Given the description of an element on the screen output the (x, y) to click on. 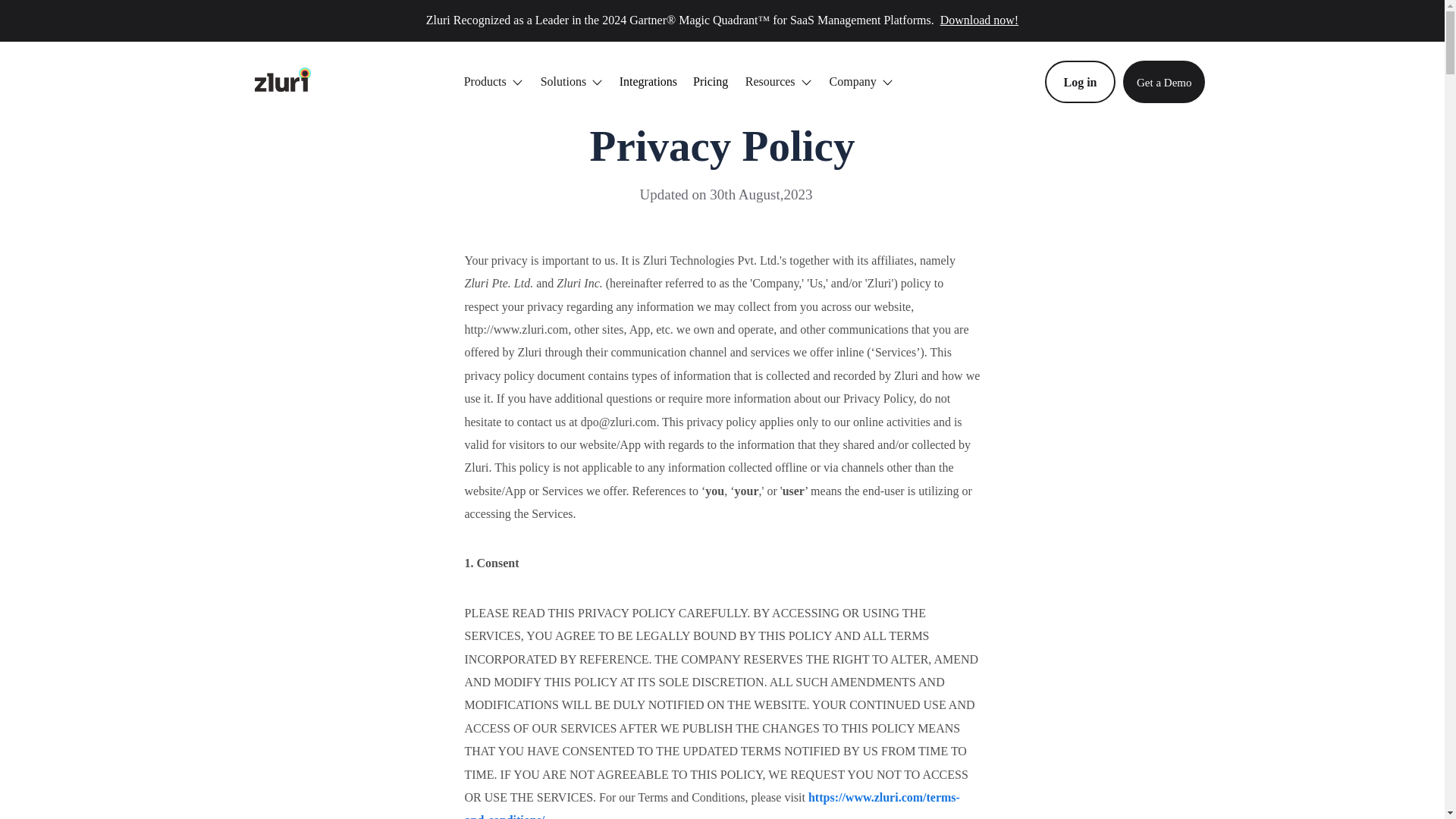
Log in (1080, 82)
Integrations (648, 81)
Download now! (976, 19)
Log in (1080, 81)
Resources (777, 81)
Products (493, 81)
Pricing (710, 81)
Company (860, 81)
Solutions (571, 81)
